Given the description of an element on the screen output the (x, y) to click on. 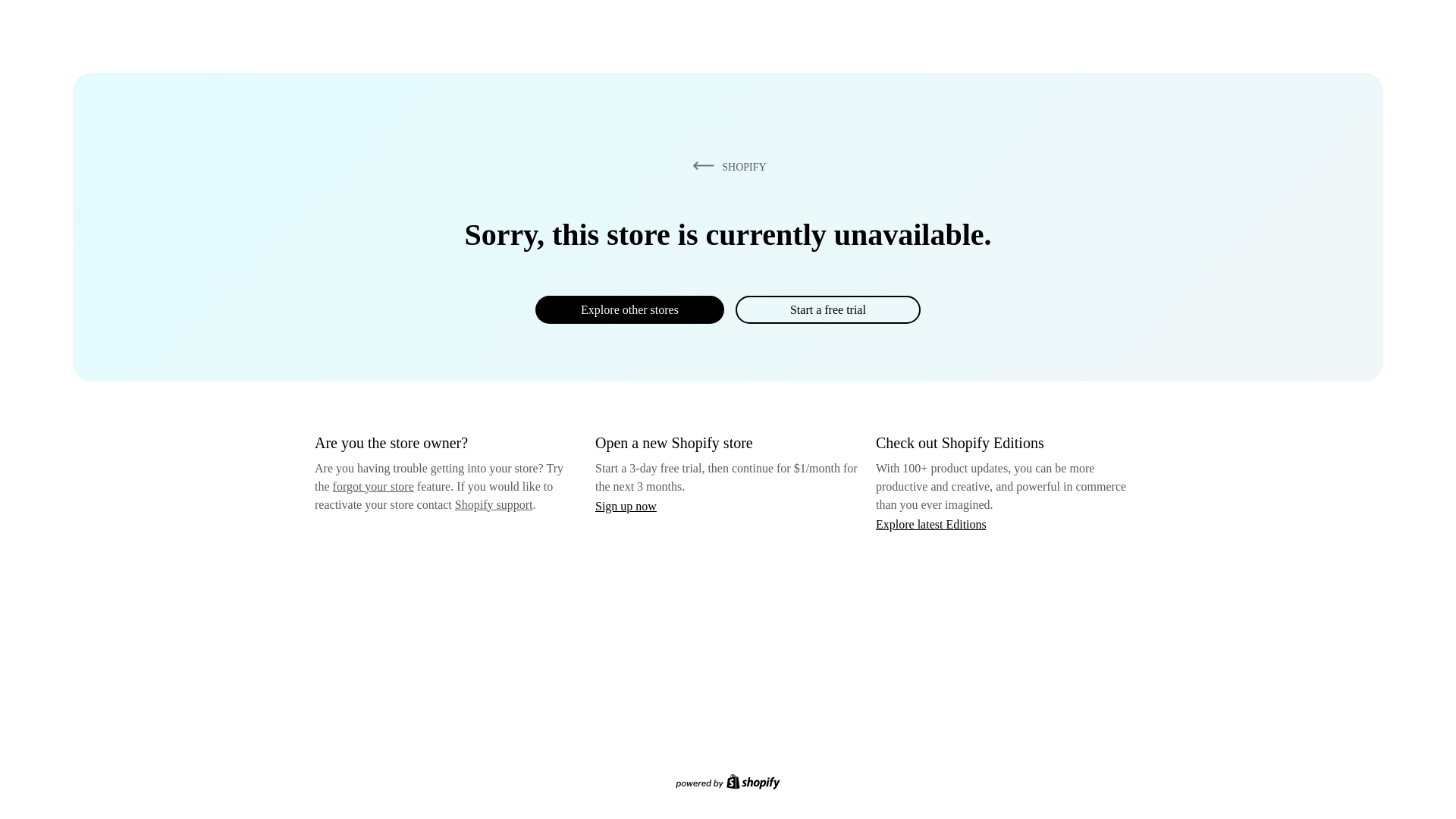
Shopify support (493, 504)
forgot your store (373, 486)
Sign up now (625, 505)
Start a free trial (827, 309)
Explore other stores (629, 309)
SHOPIFY (726, 166)
Explore latest Editions (931, 523)
